Given the description of an element on the screen output the (x, y) to click on. 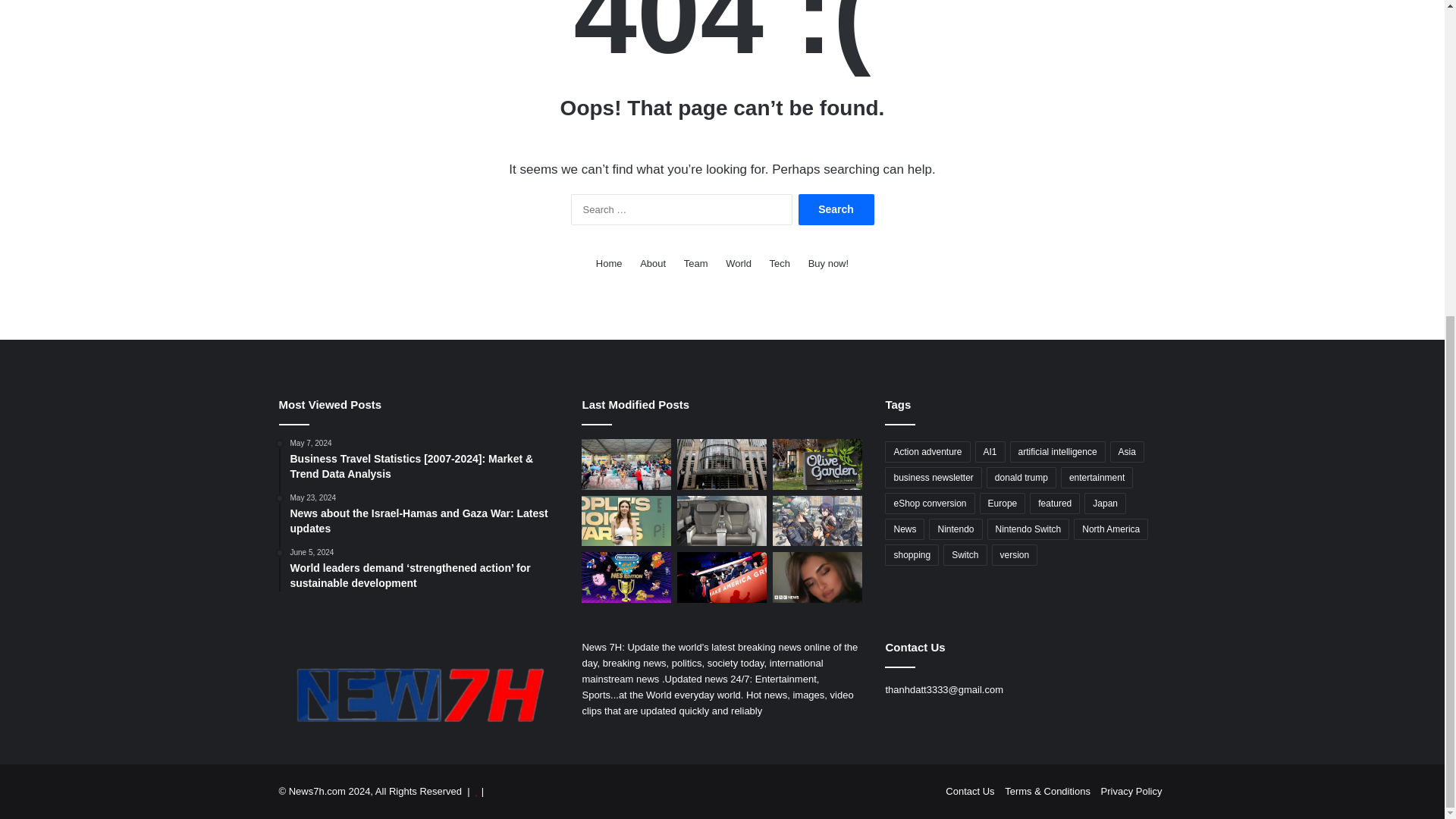
Asia (1126, 451)
entertainment (1096, 477)
Team (695, 263)
Home (609, 263)
artificial intelligence (1057, 451)
Buy now! (828, 263)
Search (835, 209)
donald trump (1022, 477)
World (738, 263)
About (652, 263)
business newsletter (933, 477)
Tech (780, 263)
Search (835, 209)
Buy now! (828, 263)
AI1 (990, 451)
